Given the description of an element on the screen output the (x, y) to click on. 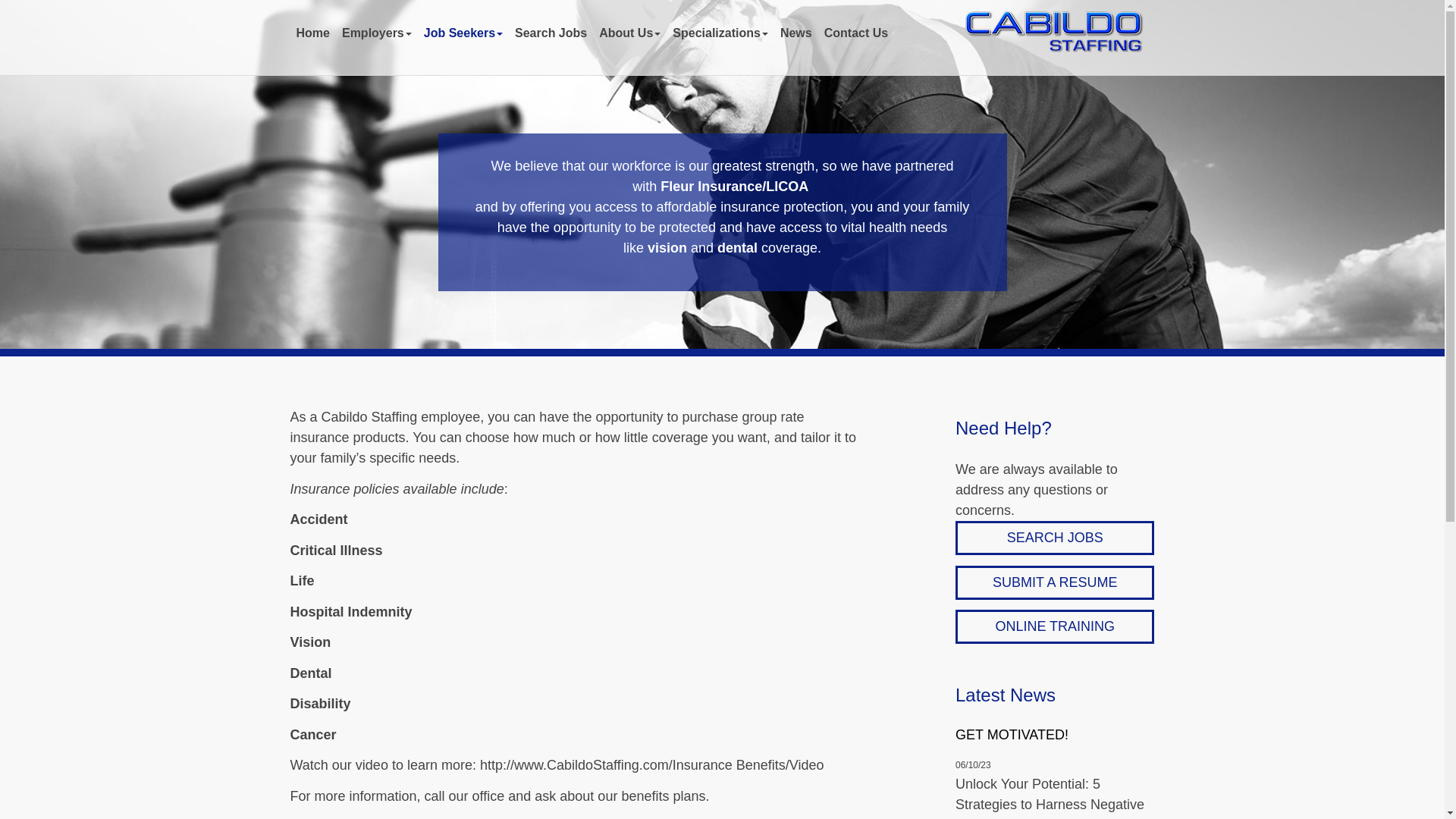
Latest News (1005, 694)
Employers (376, 33)
Specializations (720, 33)
Contact Us (855, 33)
SUBMIT A RESUME (1054, 582)
Latest News (1005, 694)
GET MOTIVATED! (1054, 735)
About Us (629, 33)
Search Jobs (550, 33)
Cabildo Staffing (1052, 31)
Job Seekers (462, 33)
SEARCH JOBS (1054, 537)
ONLINE TRAINING (1054, 626)
